Given the description of an element on the screen output the (x, y) to click on. 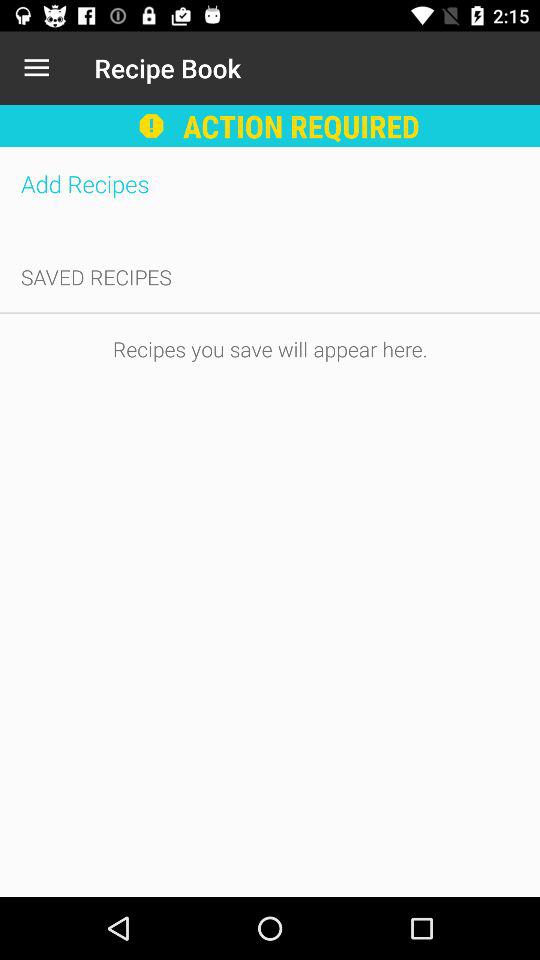
click the item above saved recipes (270, 183)
